Given the description of an element on the screen output the (x, y) to click on. 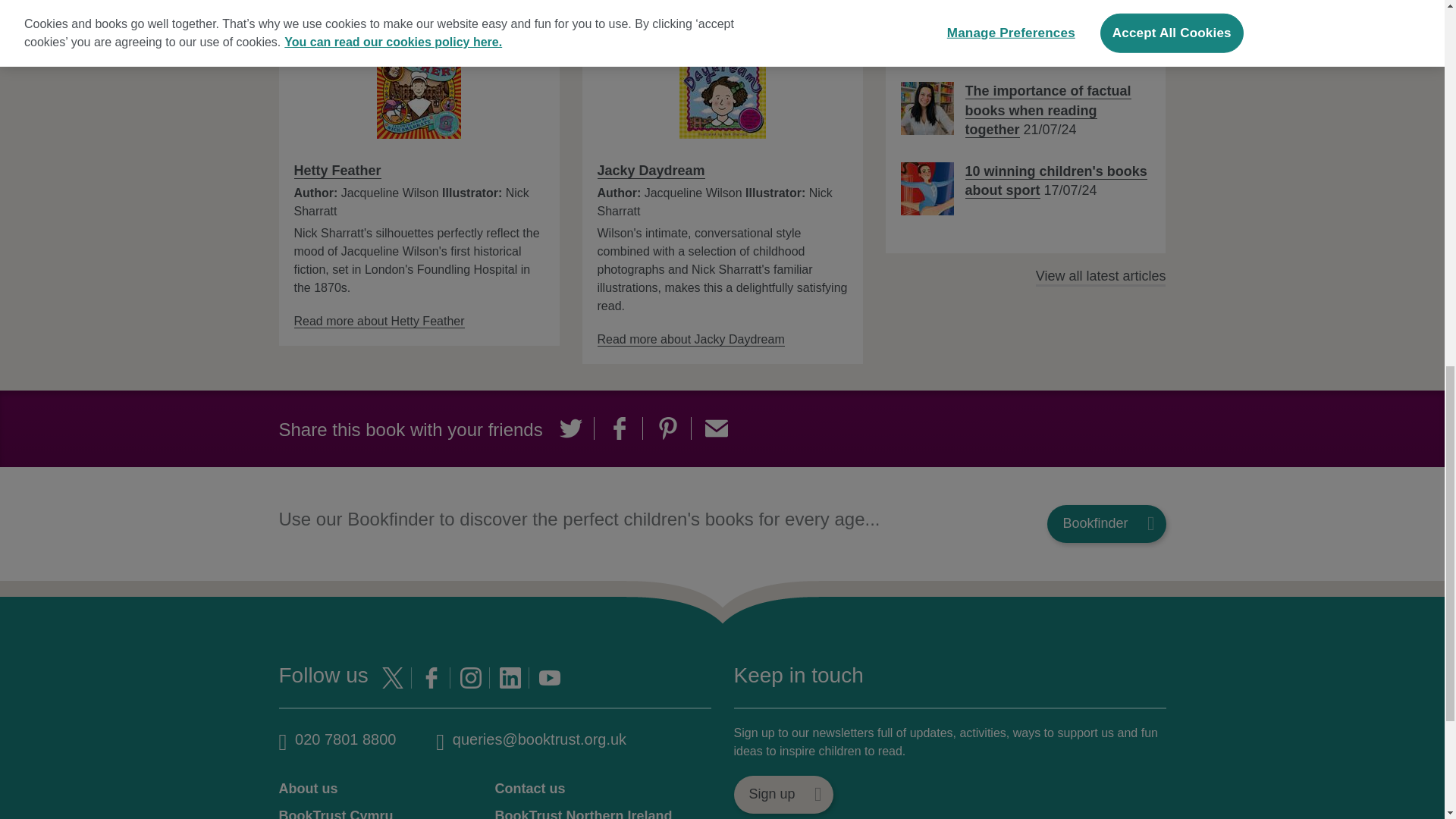
Jacky Daydream (650, 170)
10 winning children's books about sport (927, 188)
Hetty Feather (379, 321)
Hetty Feather (337, 170)
5 books that will help the transition to secondary school (1044, 30)
5 books that will help the transition to secondary school (927, 28)
The importance of factual books when reading together (1047, 110)
The importance of factual books when reading together (927, 108)
Jacky Daydream (690, 339)
